Given the description of an element on the screen output the (x, y) to click on. 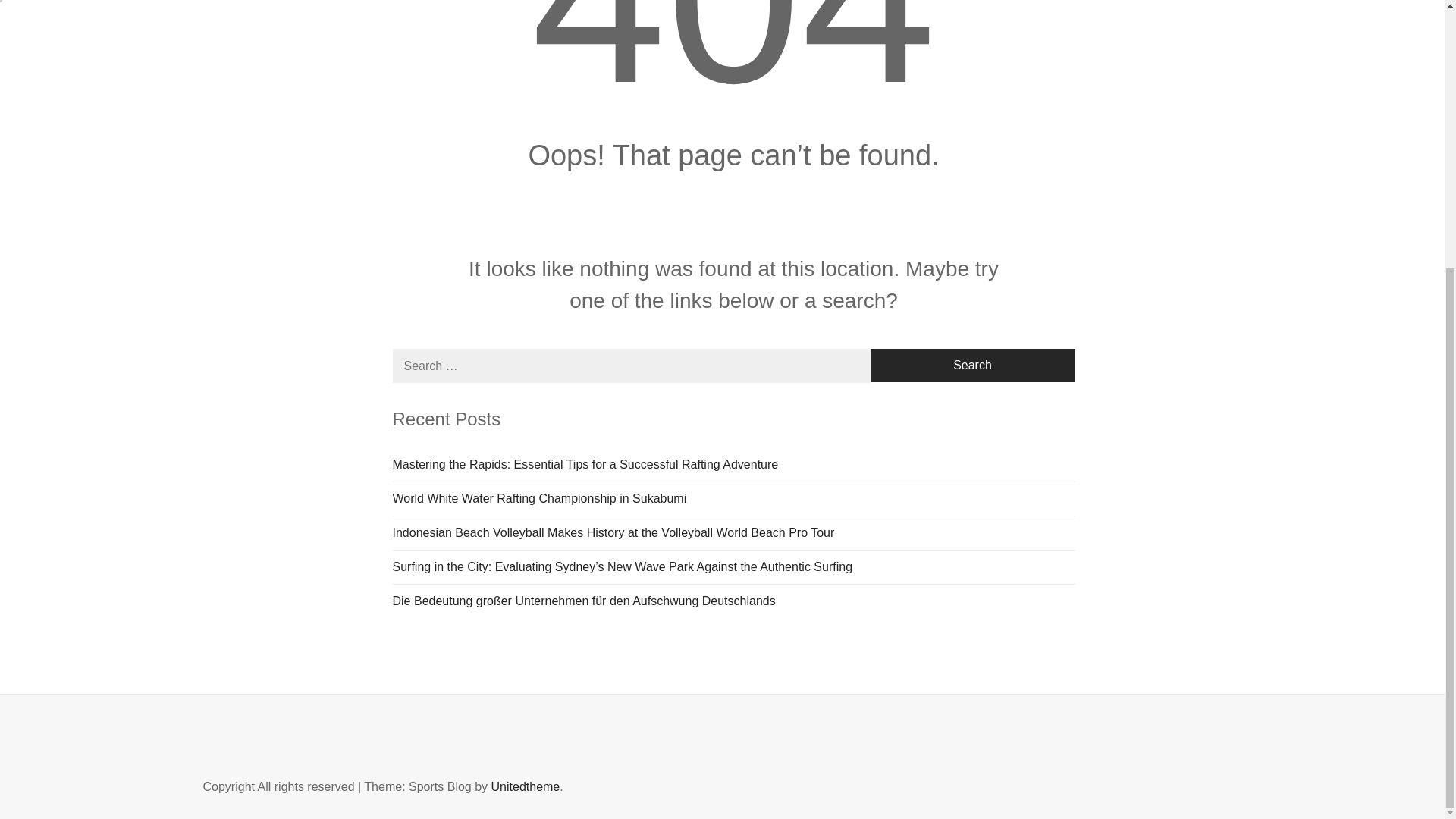
Search (972, 365)
Search (797, 21)
Search (972, 365)
World White Water Rafting Championship in Sukabumi (734, 499)
Search (972, 365)
Unitedtheme (526, 786)
